Given the description of an element on the screen output the (x, y) to click on. 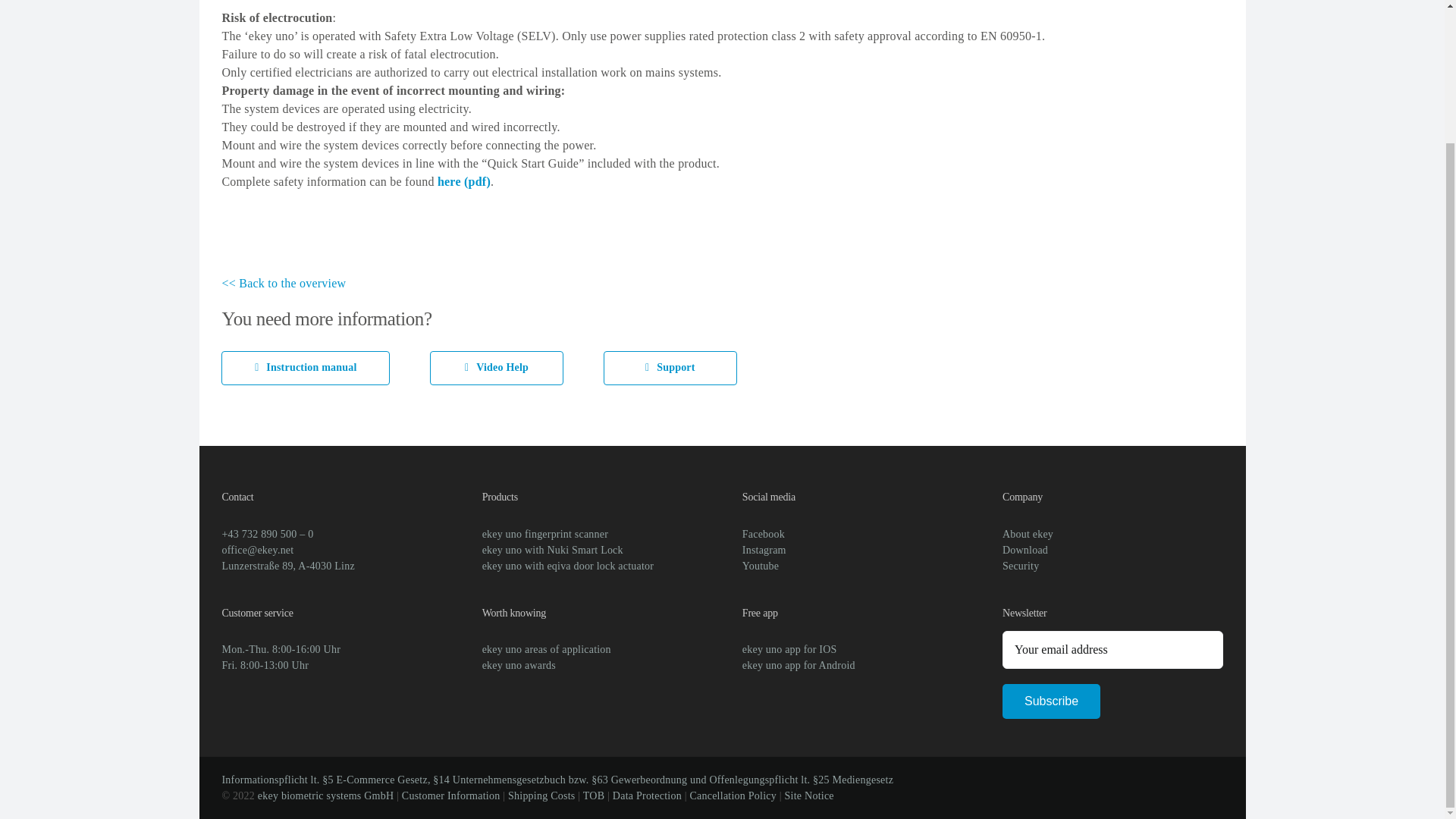
Video Help (496, 367)
Instruction manual (305, 367)
